Given the description of an element on the screen output the (x, y) to click on. 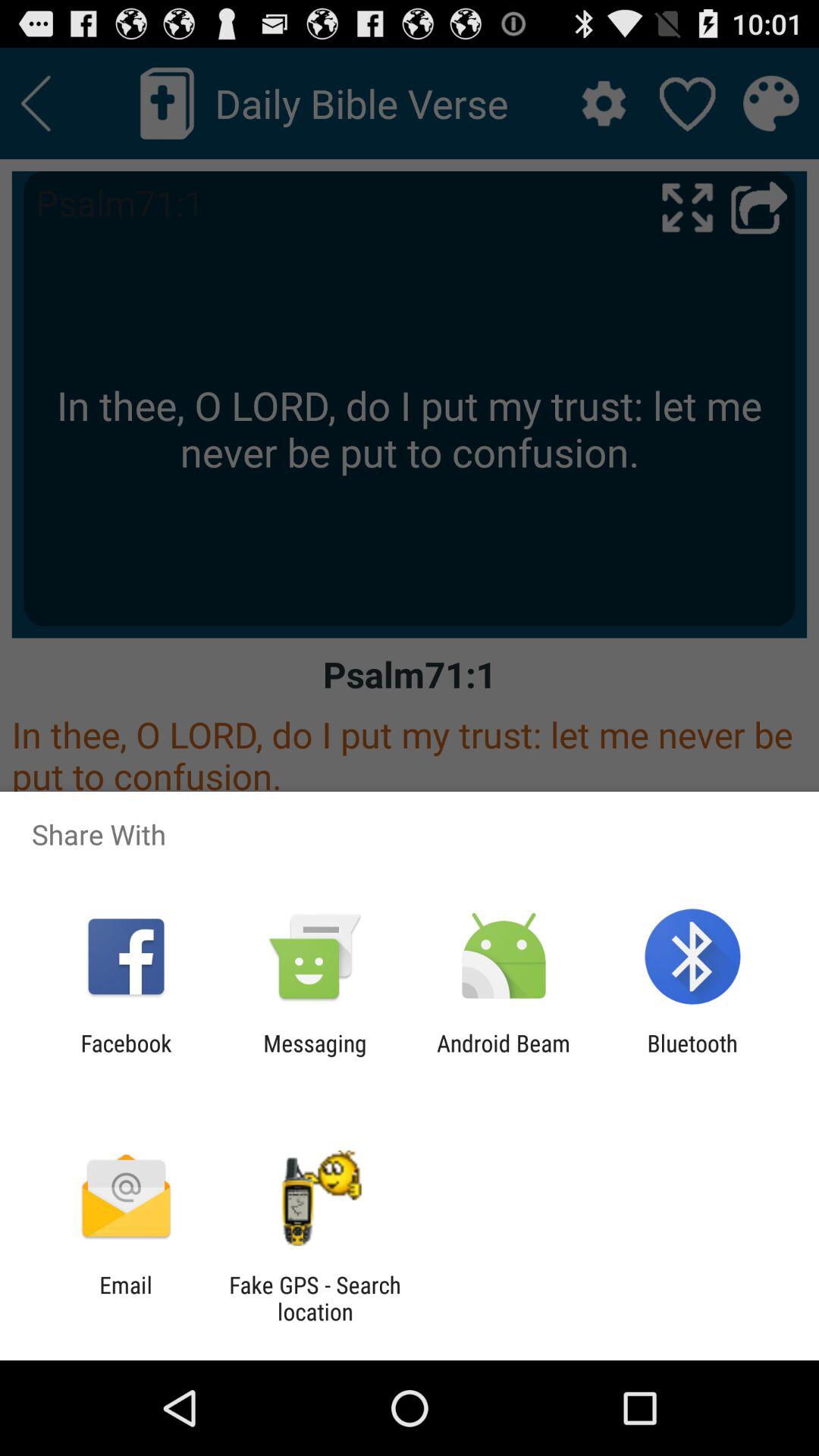
scroll until the fake gps search app (314, 1298)
